Given the description of an element on the screen output the (x, y) to click on. 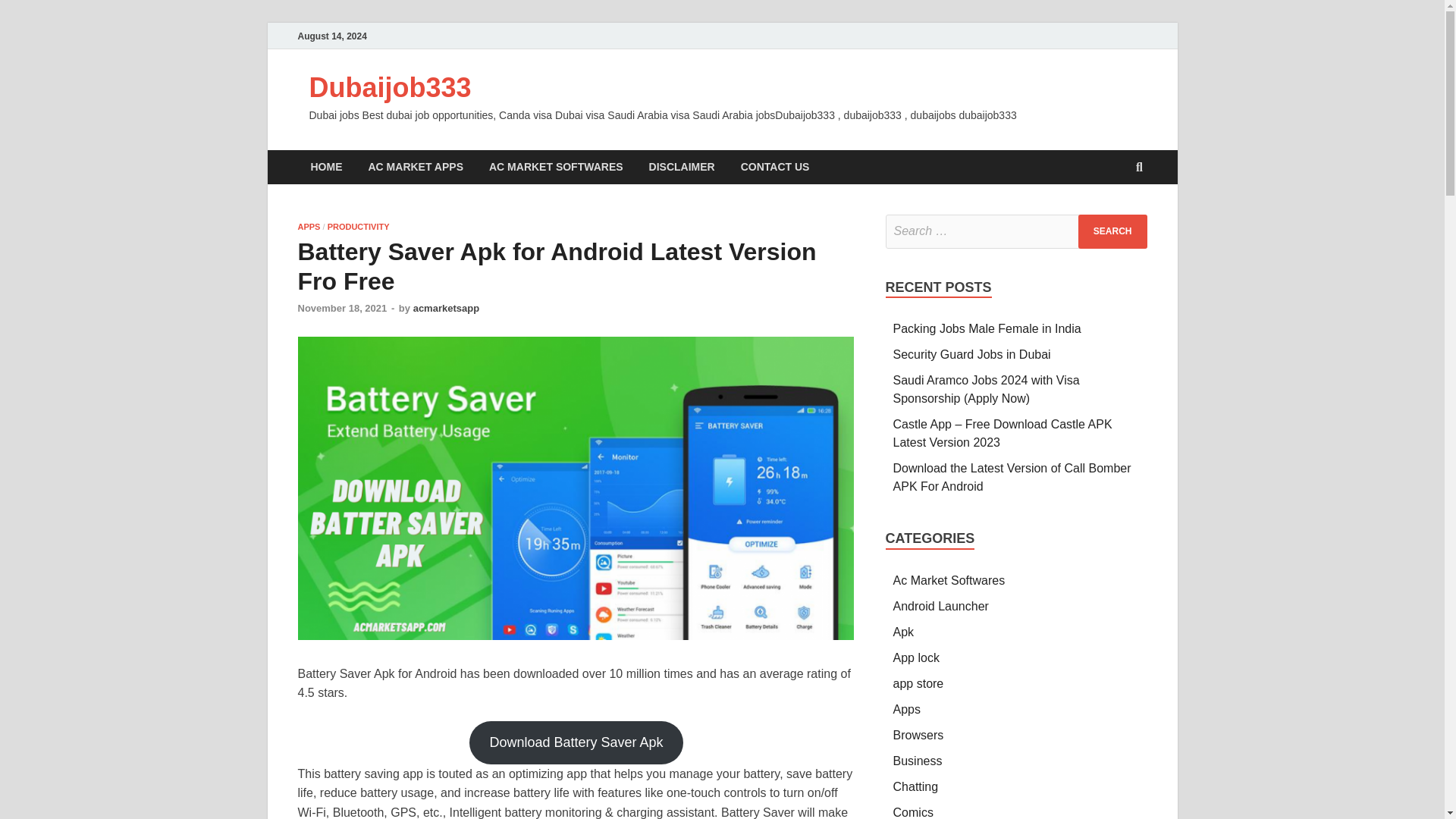
PRODUCTIVITY (358, 225)
Search (1112, 231)
AC MARKET SOFTWARES (556, 166)
November 18, 2021 (342, 307)
APPS (308, 225)
Dubaijob333 (389, 87)
DISCLAIMER (682, 166)
acmarketsapp (446, 307)
Download Battery Saver Apk (575, 742)
AC MARKET APPS (415, 166)
